Given the description of an element on the screen output the (x, y) to click on. 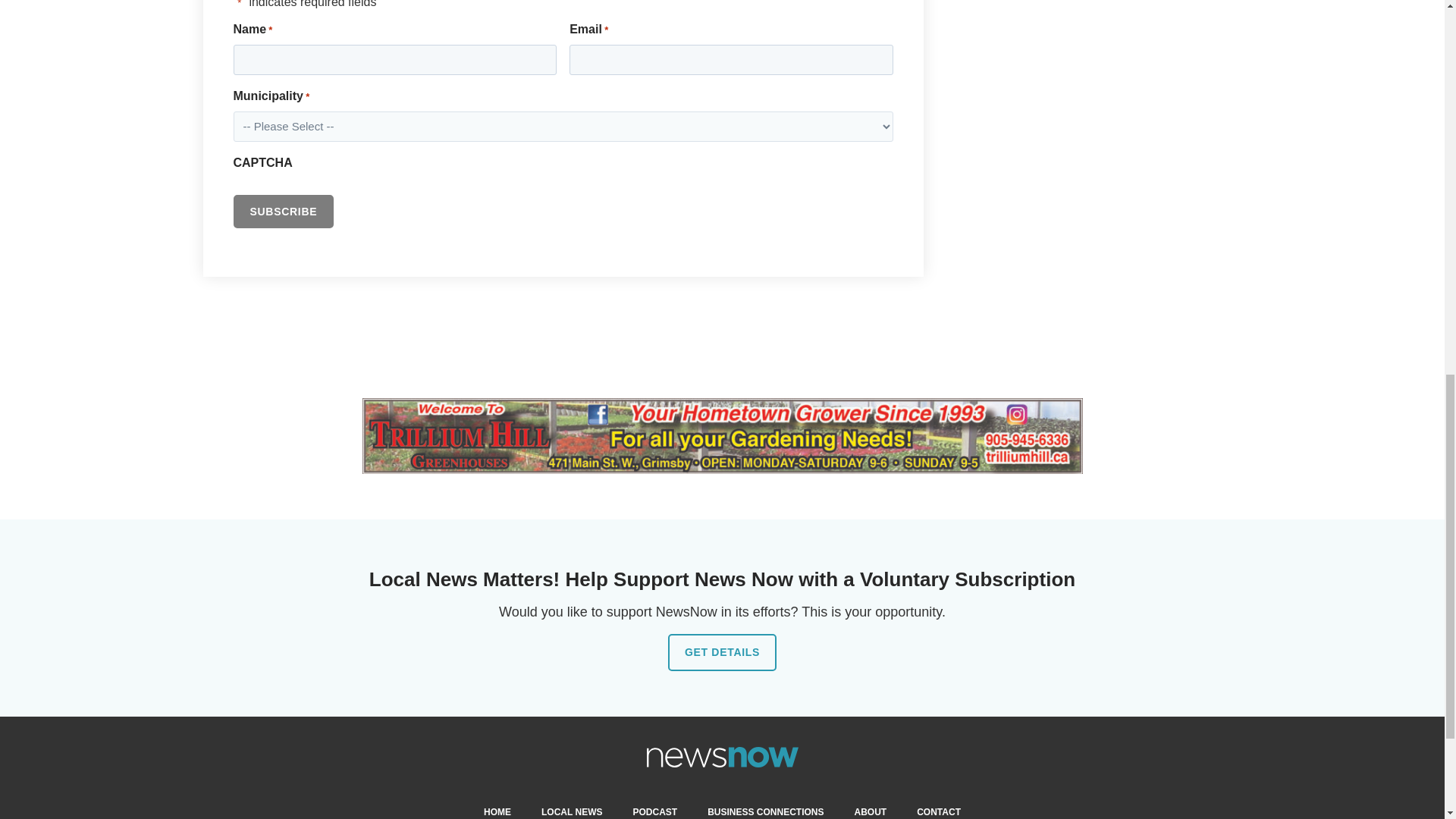
Subscribe (283, 211)
